Given the description of an element on the screen output the (x, y) to click on. 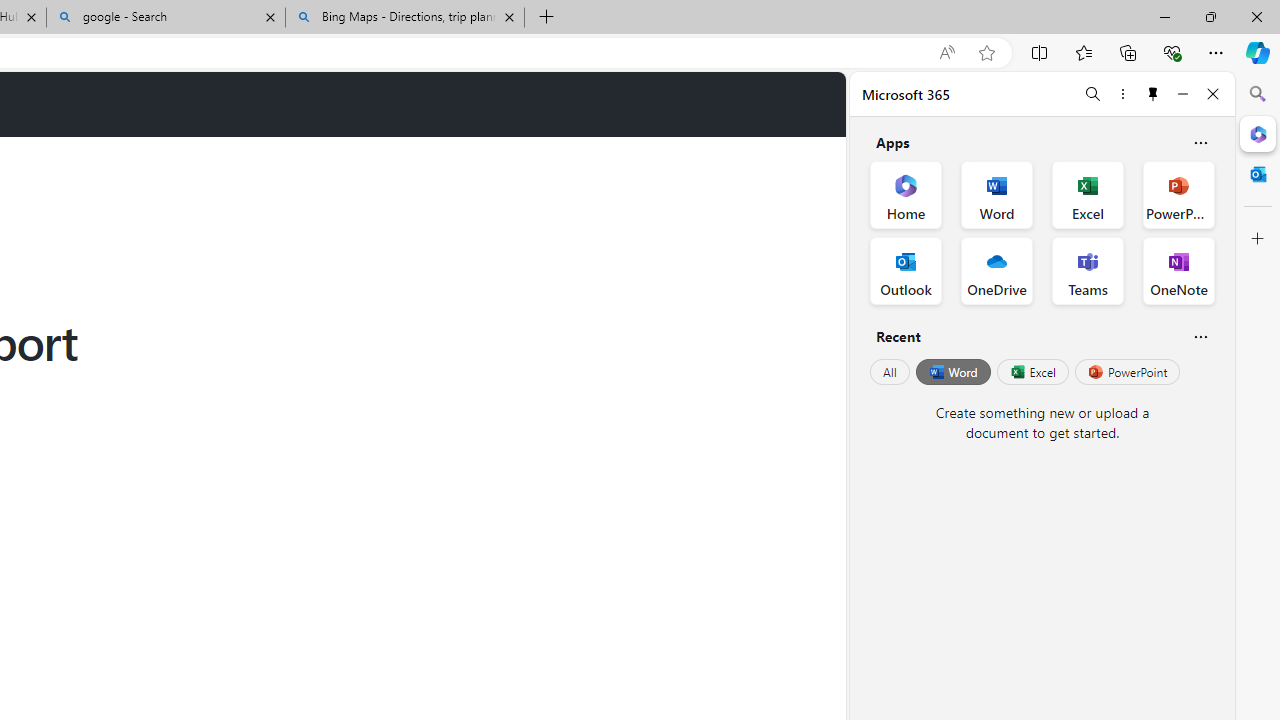
OneNote Office App (1178, 270)
